Given the description of an element on the screen output the (x, y) to click on. 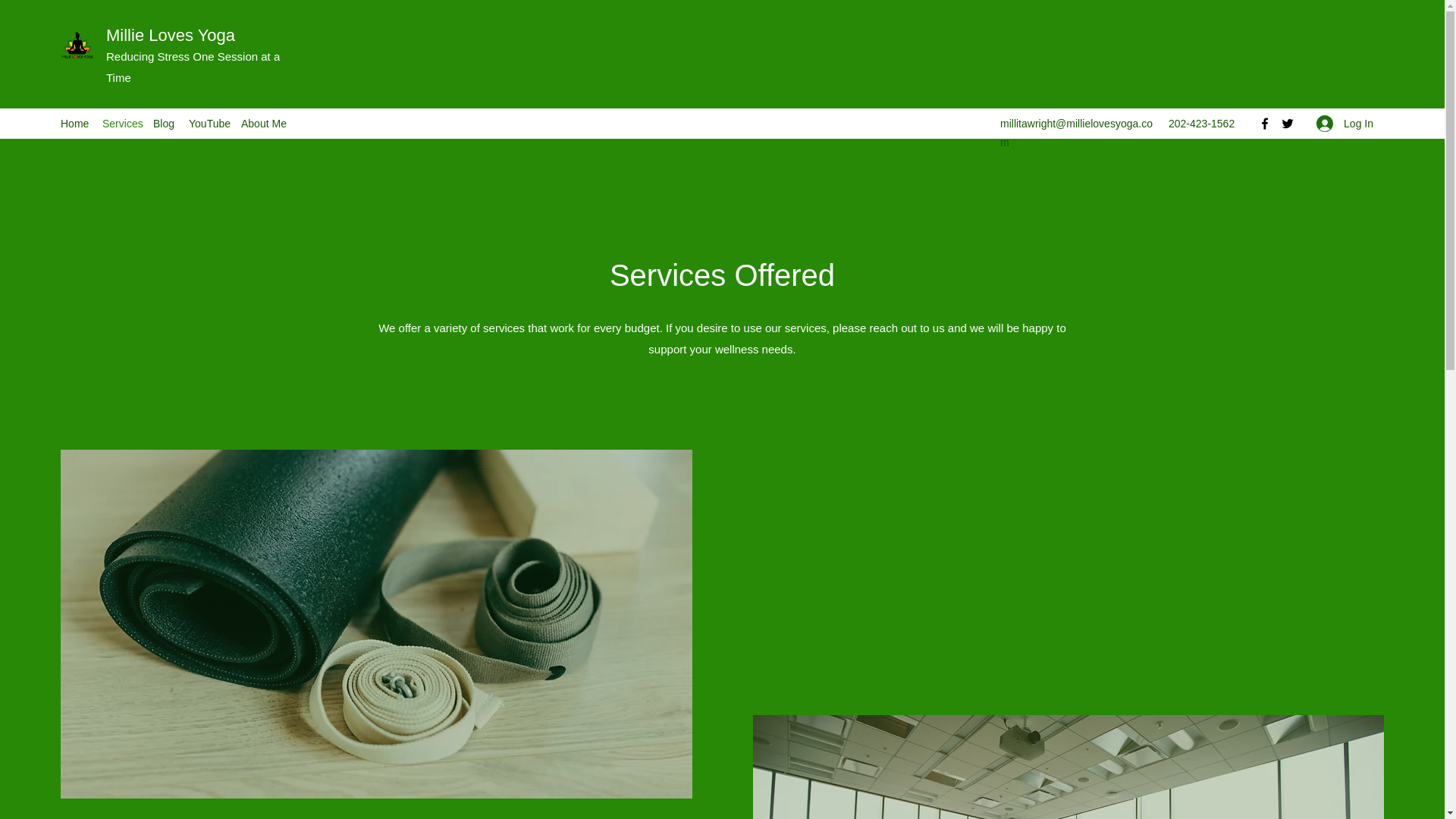
Millie Loves Yoga  (173, 35)
Home (73, 123)
About Me (263, 123)
Services (119, 123)
YouTube (206, 123)
Blog (162, 123)
Log In (1345, 123)
